Given the description of an element on the screen output the (x, y) to click on. 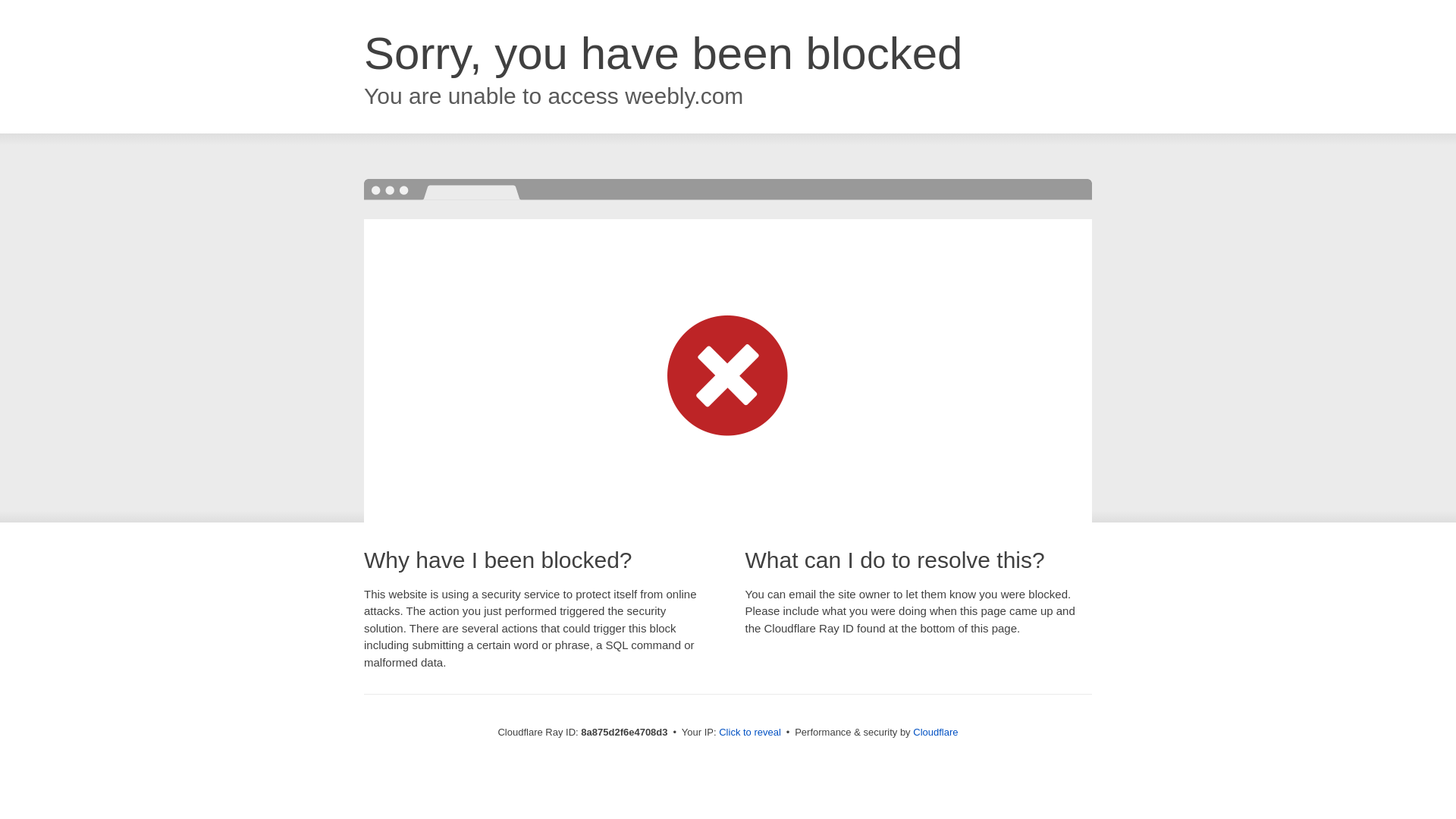
Click to reveal (749, 732)
Cloudflare (935, 731)
